Given the description of an element on the screen output the (x, y) to click on. 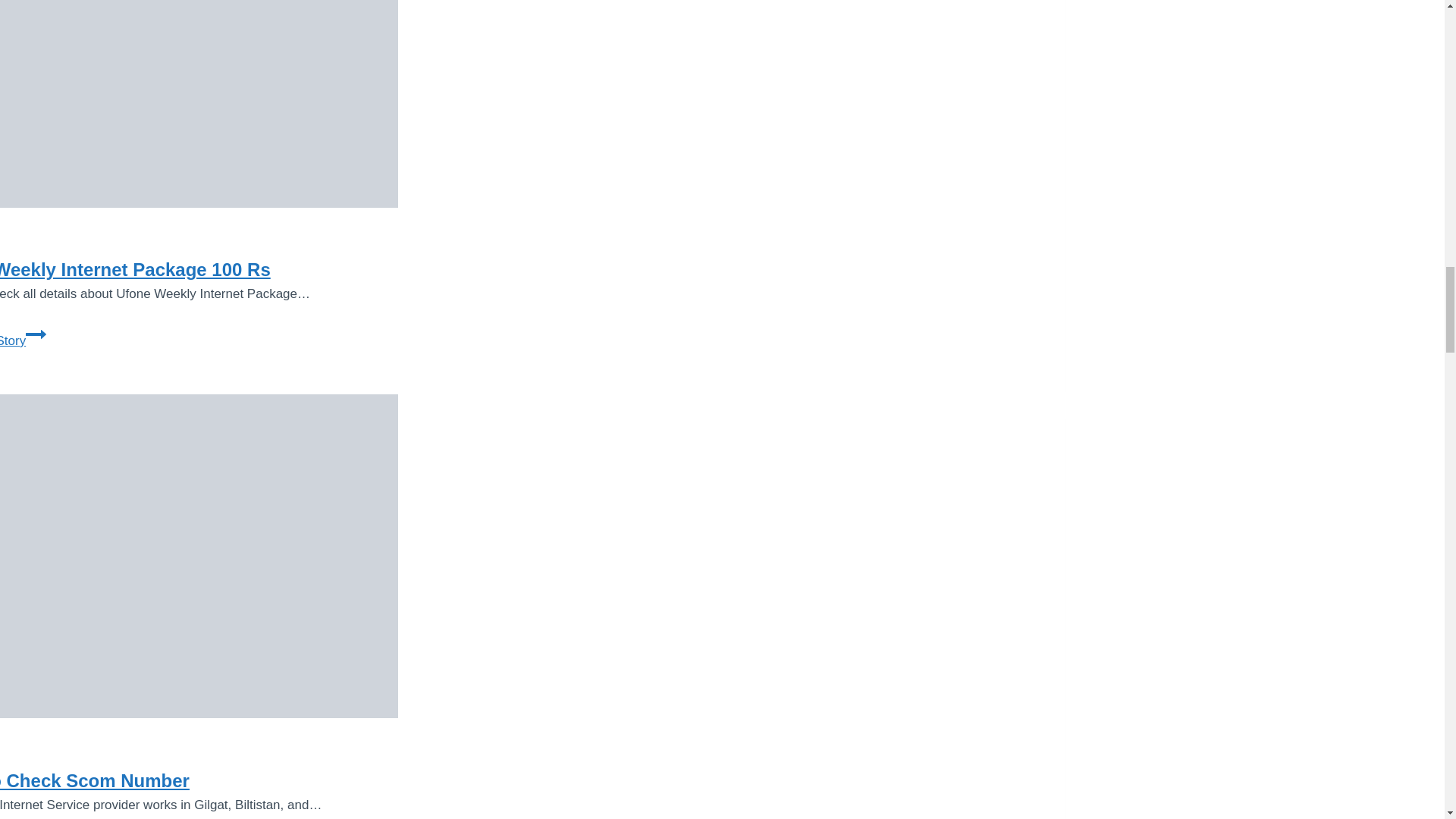
How To Check Scom Number (94, 780)
How To Check Scom Number 5 (198, 555)
Continue (36, 333)
Ufone Weekly Internet Package 100 Rs 4 (198, 104)
Ufone Weekly Internet Package 100 Rs (135, 269)
